Given the description of an element on the screen output the (x, y) to click on. 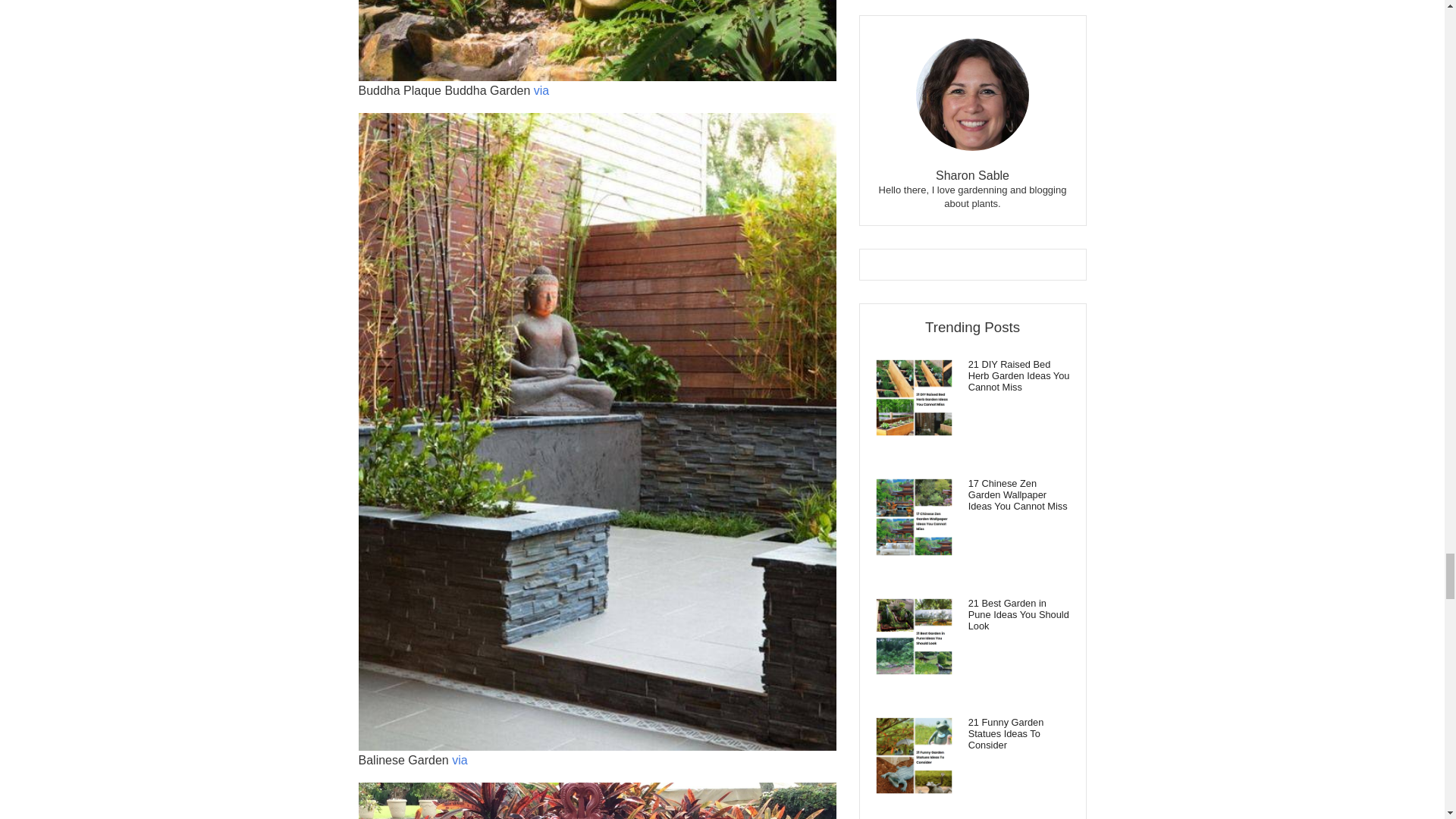
via (541, 90)
via (459, 759)
